Given the description of an element on the screen output the (x, y) to click on. 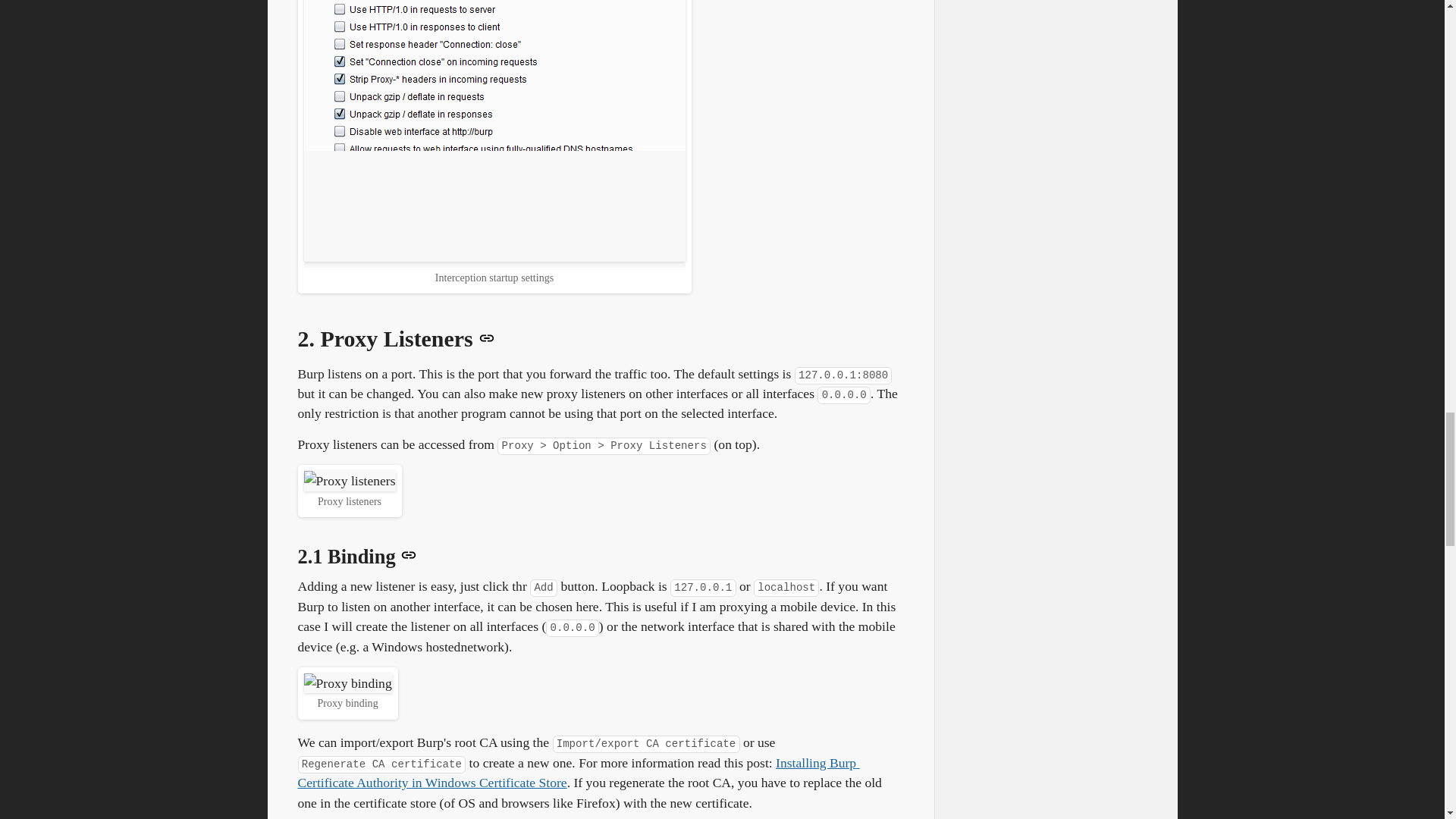
Proxy listeners (348, 480)
Proxy binding (346, 682)
Interception startup settings (493, 130)
